Given the description of an element on the screen output the (x, y) to click on. 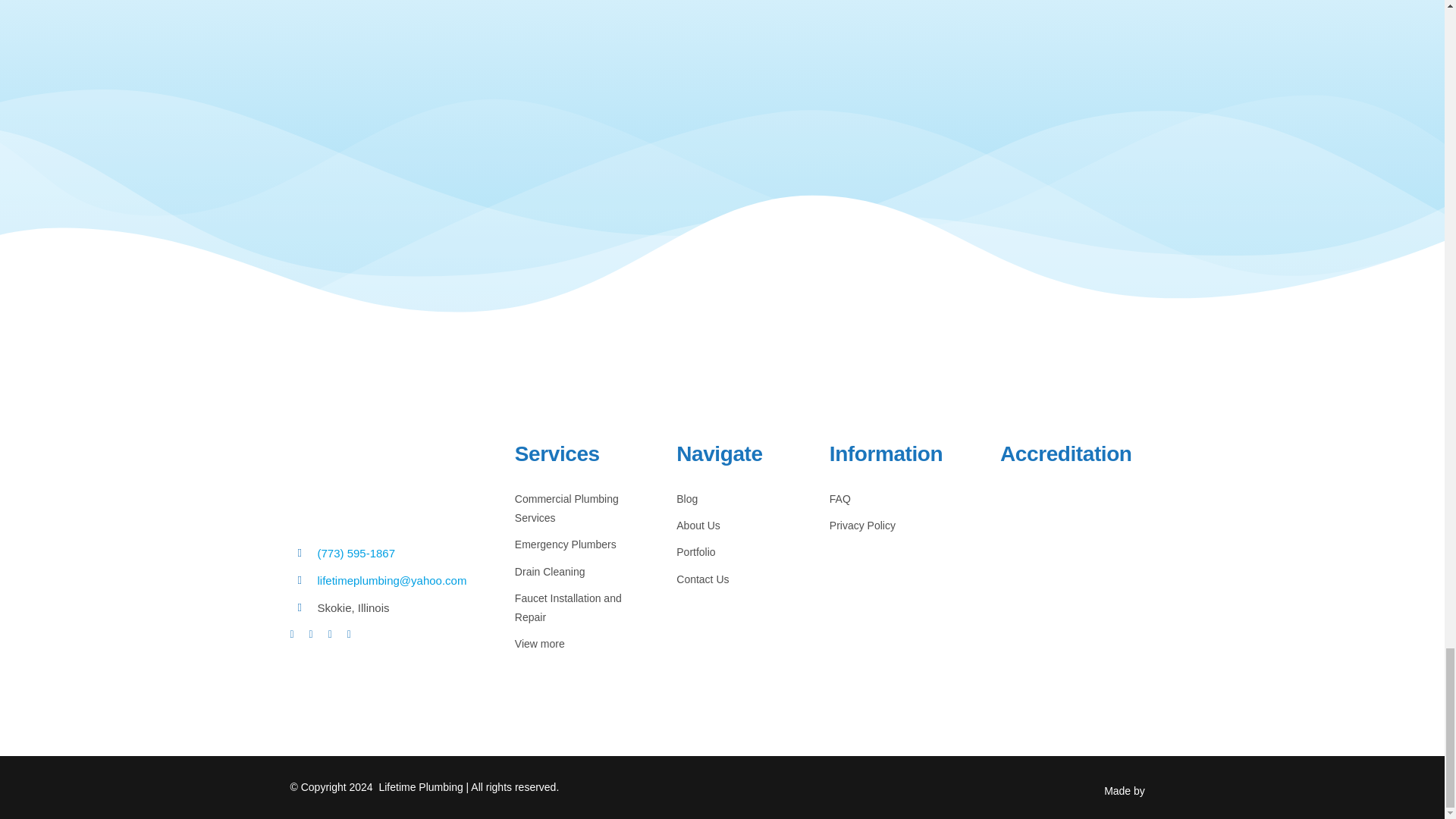
Facebook (291, 634)
Plumbers (365, 479)
